Given the description of an element on the screen output the (x, y) to click on. 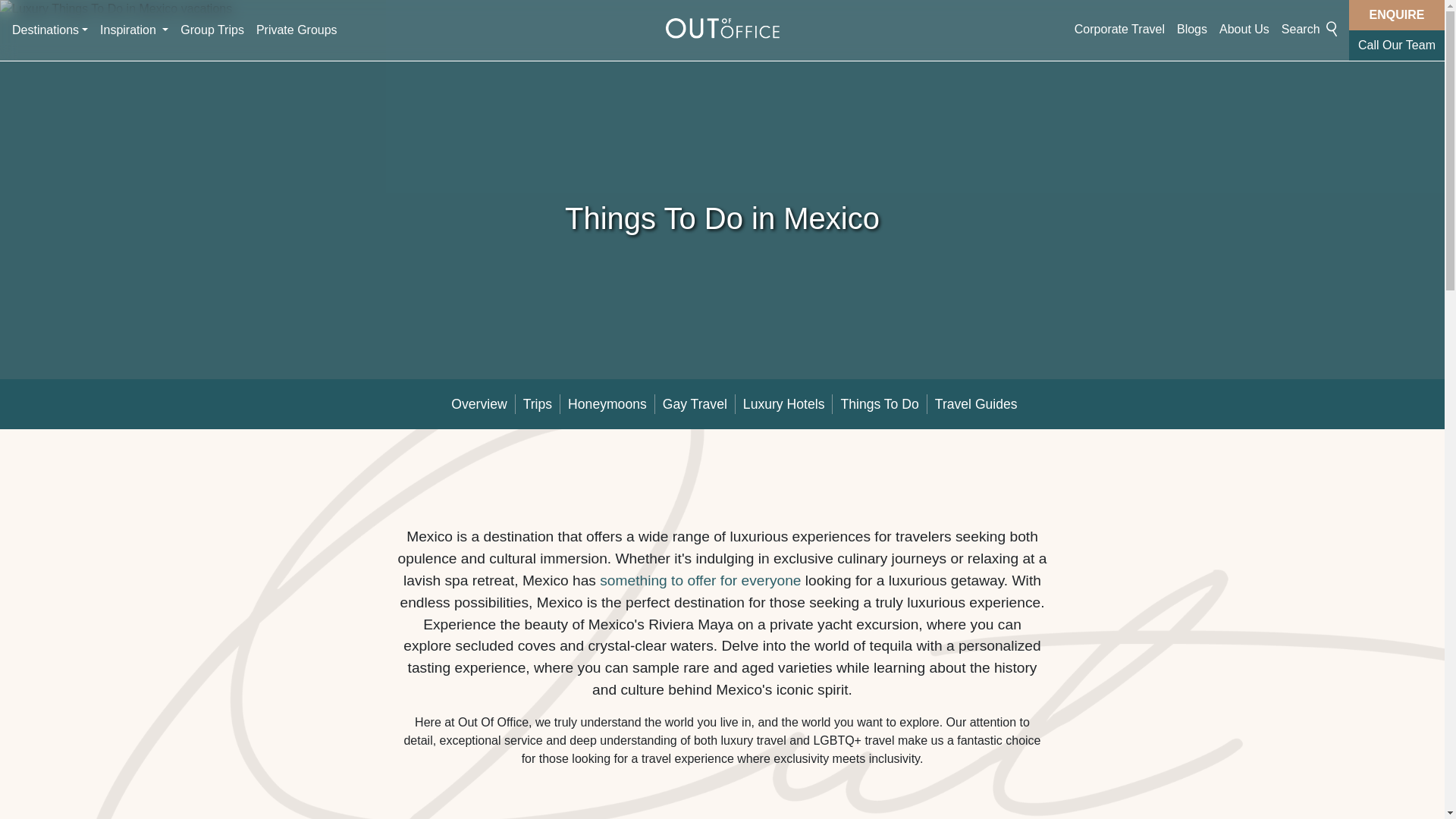
Inspiration (134, 30)
Search (1308, 29)
Corporate Travel (1119, 29)
Group Trips (212, 30)
About Us (1243, 29)
Private Groups (296, 30)
Blogs (1191, 29)
Destinations (49, 30)
